Given the description of an element on the screen output the (x, y) to click on. 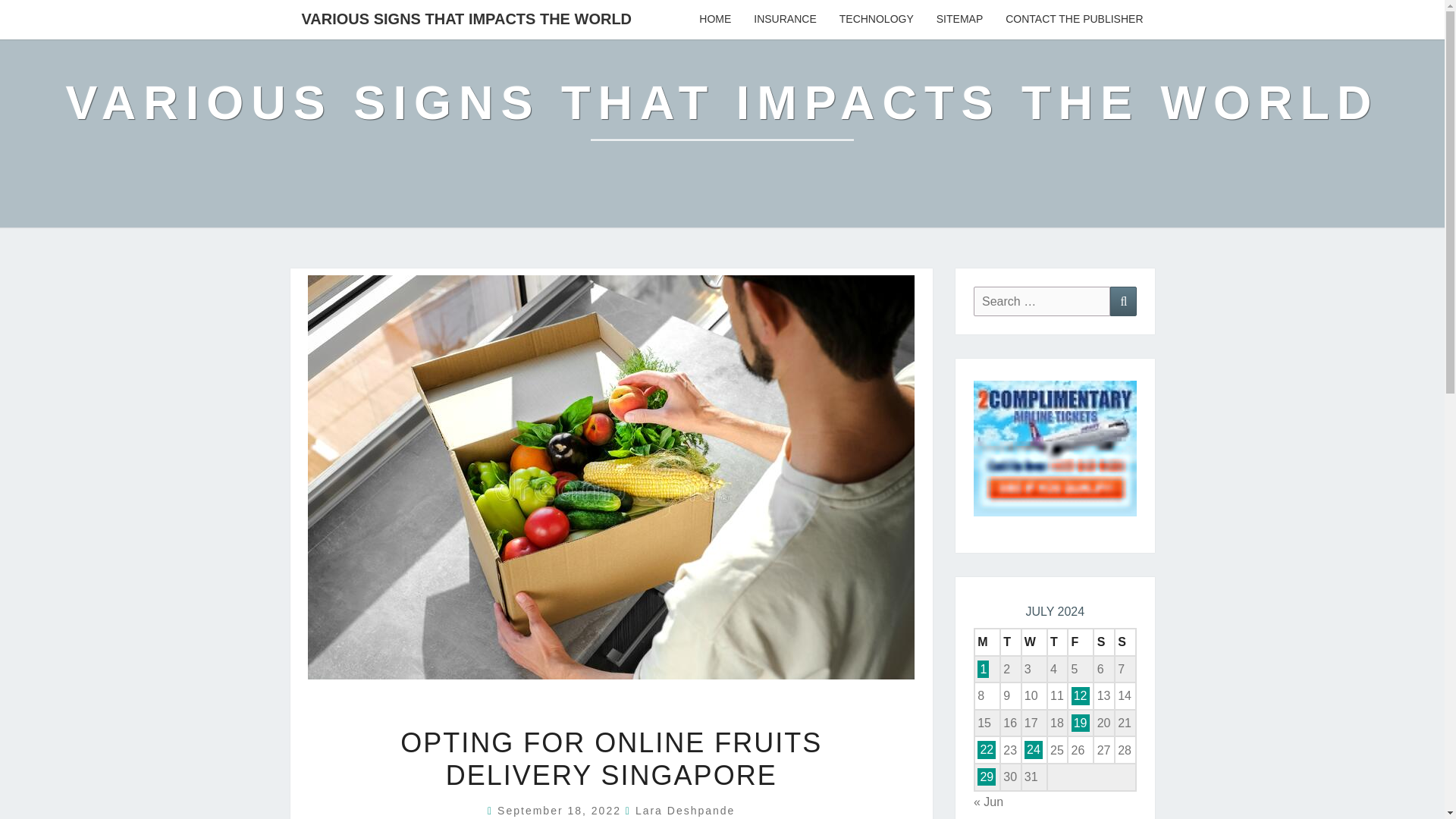
19 (1079, 723)
September 18, 2022 (561, 810)
22 (985, 749)
TECHNOLOGY (876, 19)
View all posts by Lara Deshpande (684, 810)
HOME (714, 19)
29 (985, 776)
Search (1123, 301)
12 (1079, 695)
CONTACT THE PUBLISHER (1074, 19)
VARIOUS SIGNS THAT IMPACTS THE WORLD (721, 113)
Wednesday (1034, 642)
24 (1033, 749)
12:43 pm (561, 810)
Search for: (1041, 301)
